Given the description of an element on the screen output the (x, y) to click on. 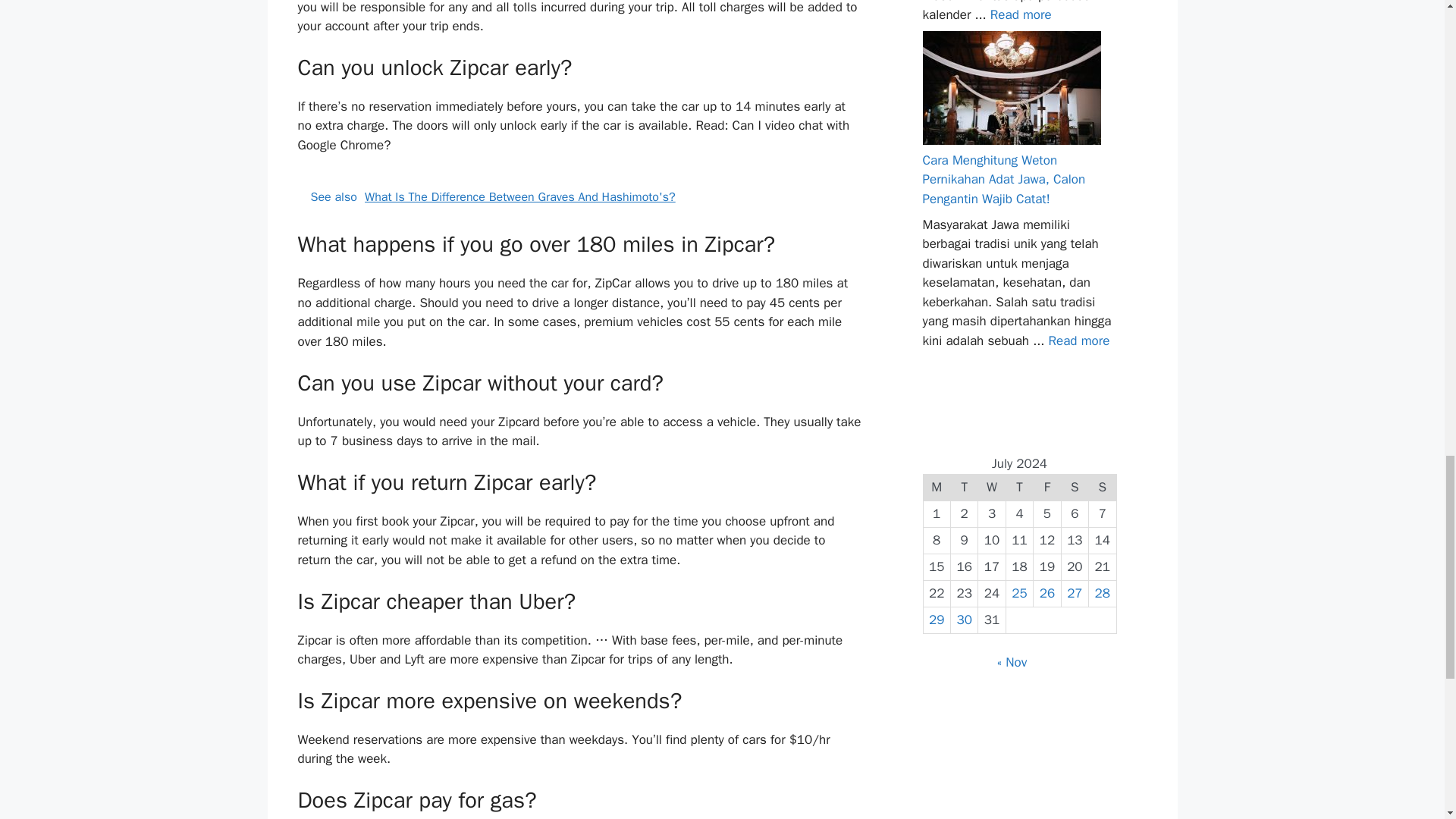
5 Perbedaan Kalender Masehi dan Hijriah dalam Berbagai Aspek (1020, 14)
Monday (936, 487)
